Given the description of an element on the screen output the (x, y) to click on. 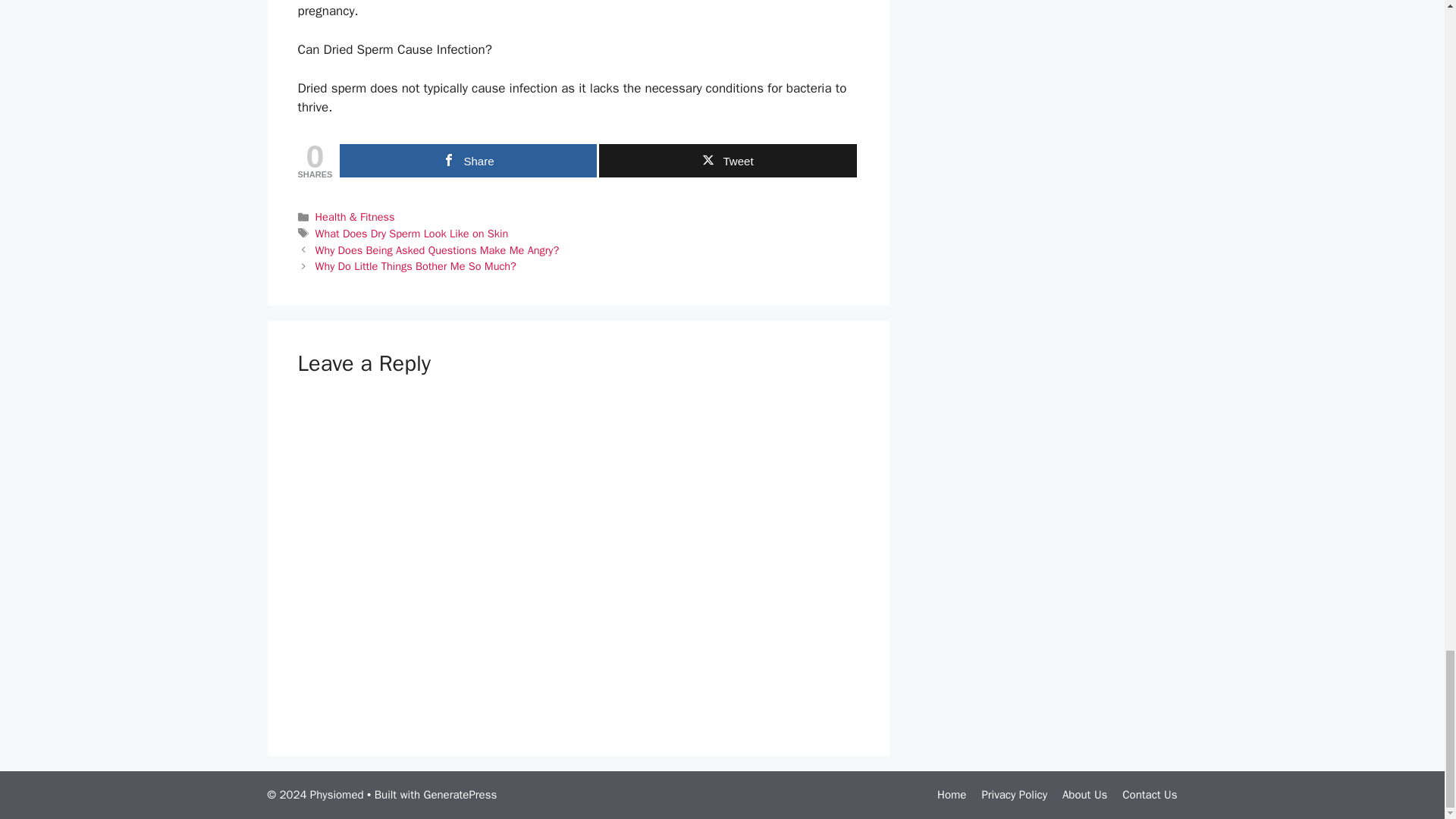
What Does Dry Sperm Look Like on Skin (411, 233)
Why Does Being Asked Questions Make Me Angry? (437, 250)
Share (467, 160)
Tweet (727, 160)
Why Do Little Things Bother Me So Much? (415, 265)
